Given the description of an element on the screen output the (x, y) to click on. 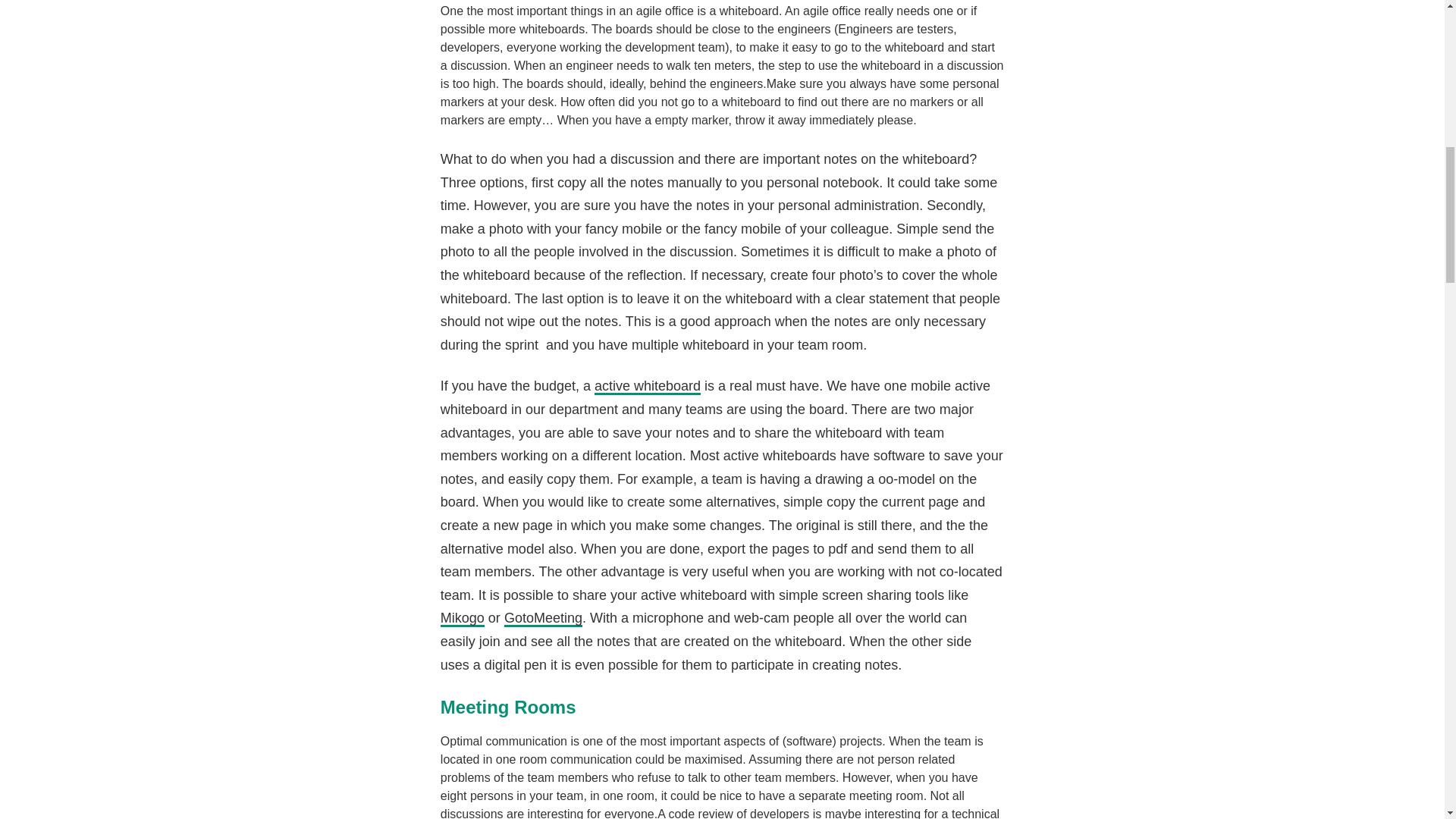
Mikogo (462, 618)
active whiteboard (647, 386)
GotoMeeting (542, 618)
